Given the description of an element on the screen output the (x, y) to click on. 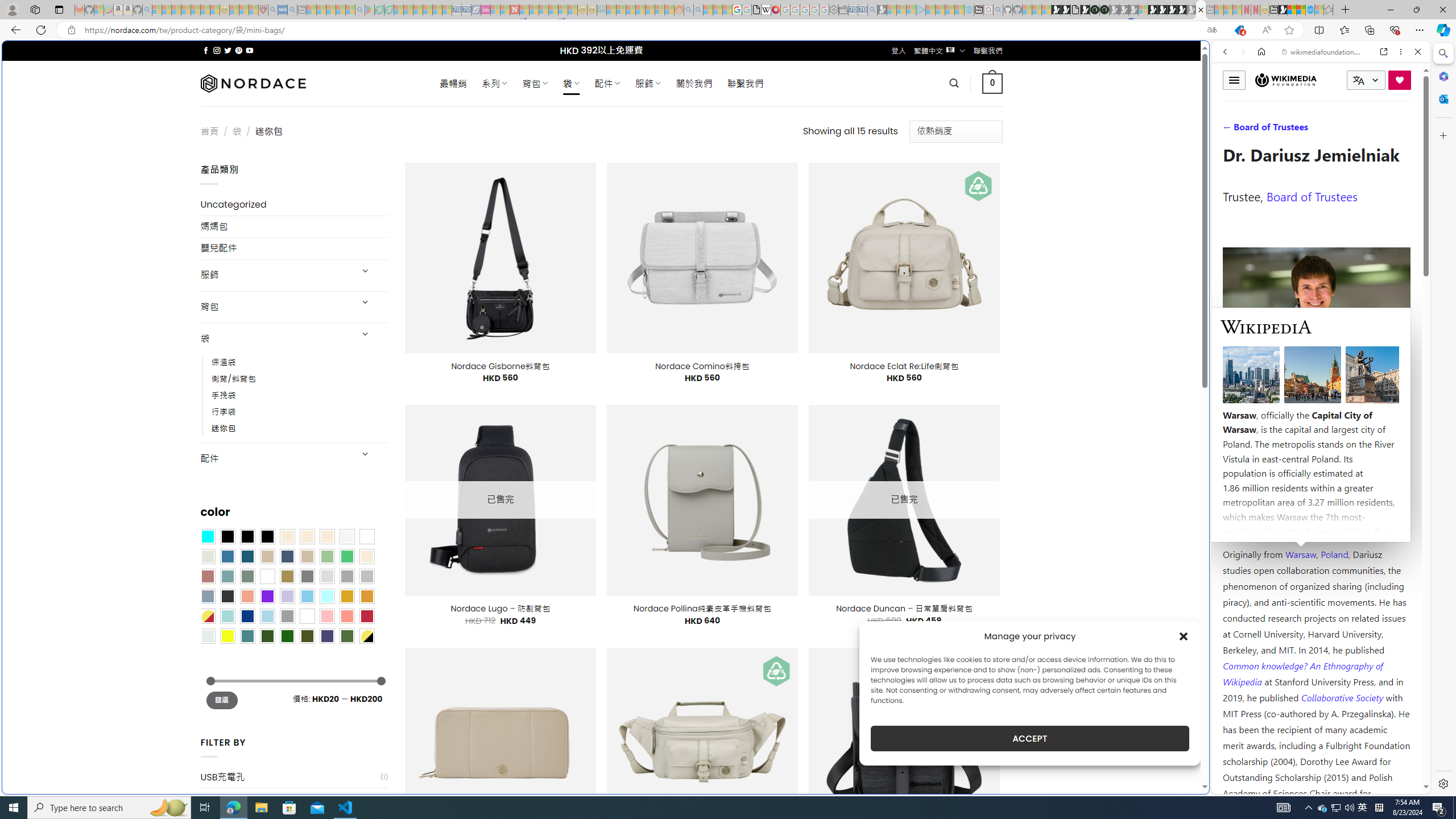
Poland (1334, 554)
Search Filter, IMAGES (1262, 129)
google_privacy_policy_zh-CN.pdf (1118, 683)
